Given the description of an element on the screen output the (x, y) to click on. 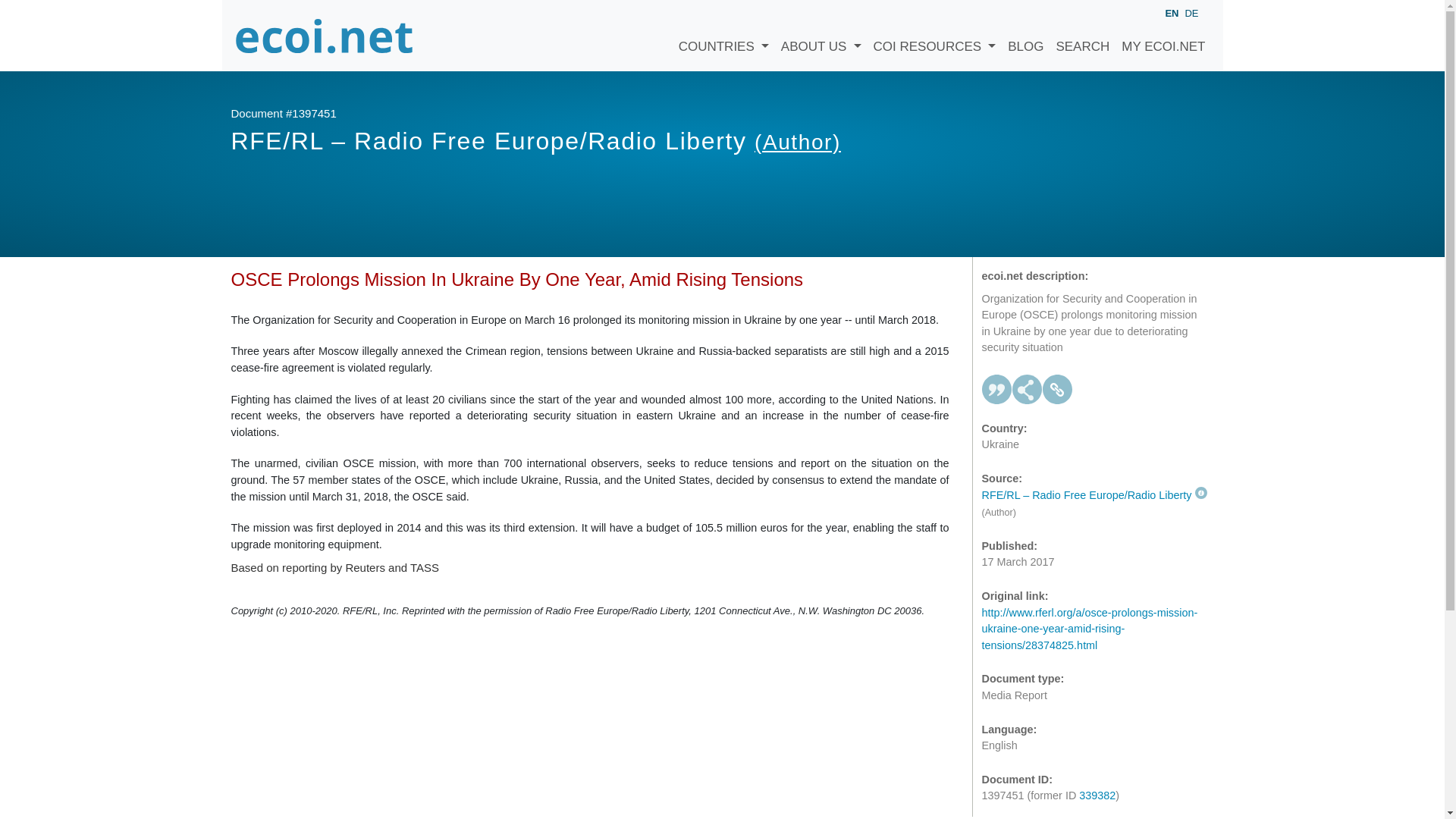
339382 (1096, 795)
Share (1026, 389)
Read source description (1094, 494)
Go to ecoi.net homepage (323, 35)
Permalink (1056, 389)
COUNTRIES (723, 35)
DE (1190, 12)
English (1170, 13)
MY ECOI.NET (1163, 35)
Cite as (996, 389)
